Given the description of an element on the screen output the (x, y) to click on. 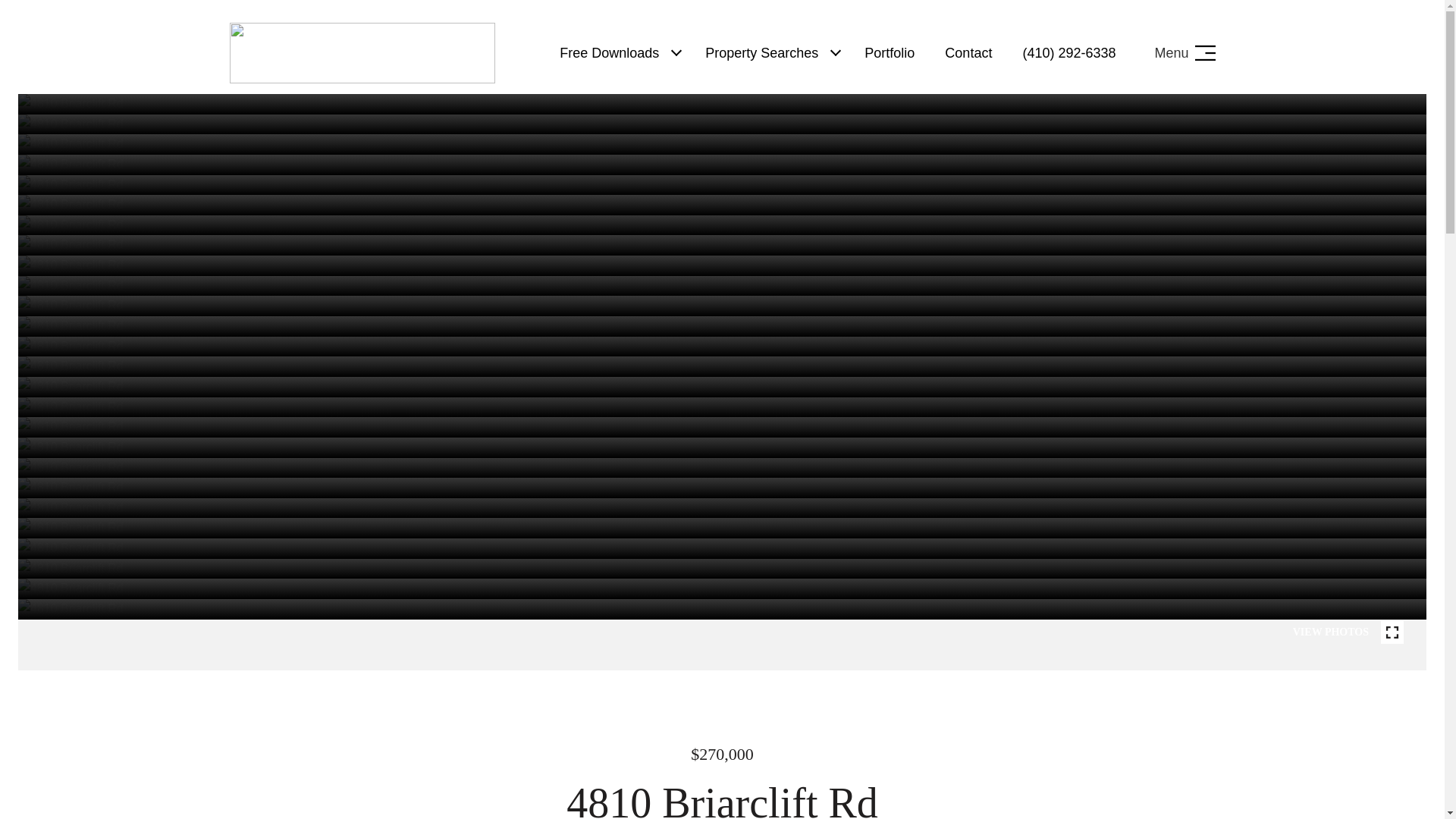
Property Searches (761, 52)
Menu (1184, 53)
Contact (967, 52)
Portfolio (889, 52)
Free Downloads (608, 52)
